Given the description of an element on the screen output the (x, y) to click on. 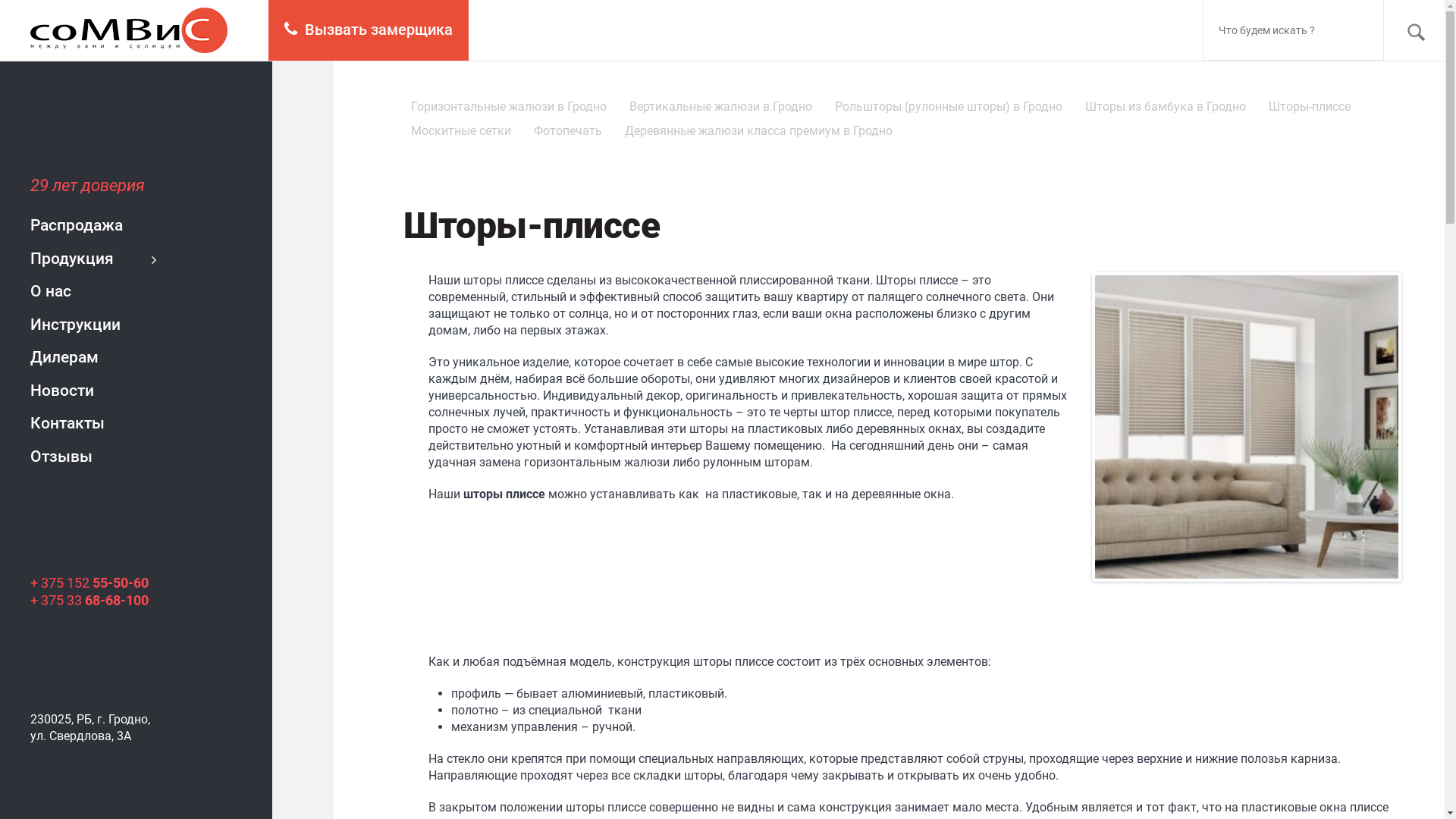
+ 375 152 55-50-60 Element type: text (89, 582)
8e9b085342119ca798ae7dcf298af4248c Element type: hover (1246, 426)
+ 375 33 68-68-100 Element type: text (89, 600)
